Given the description of an element on the screen output the (x, y) to click on. 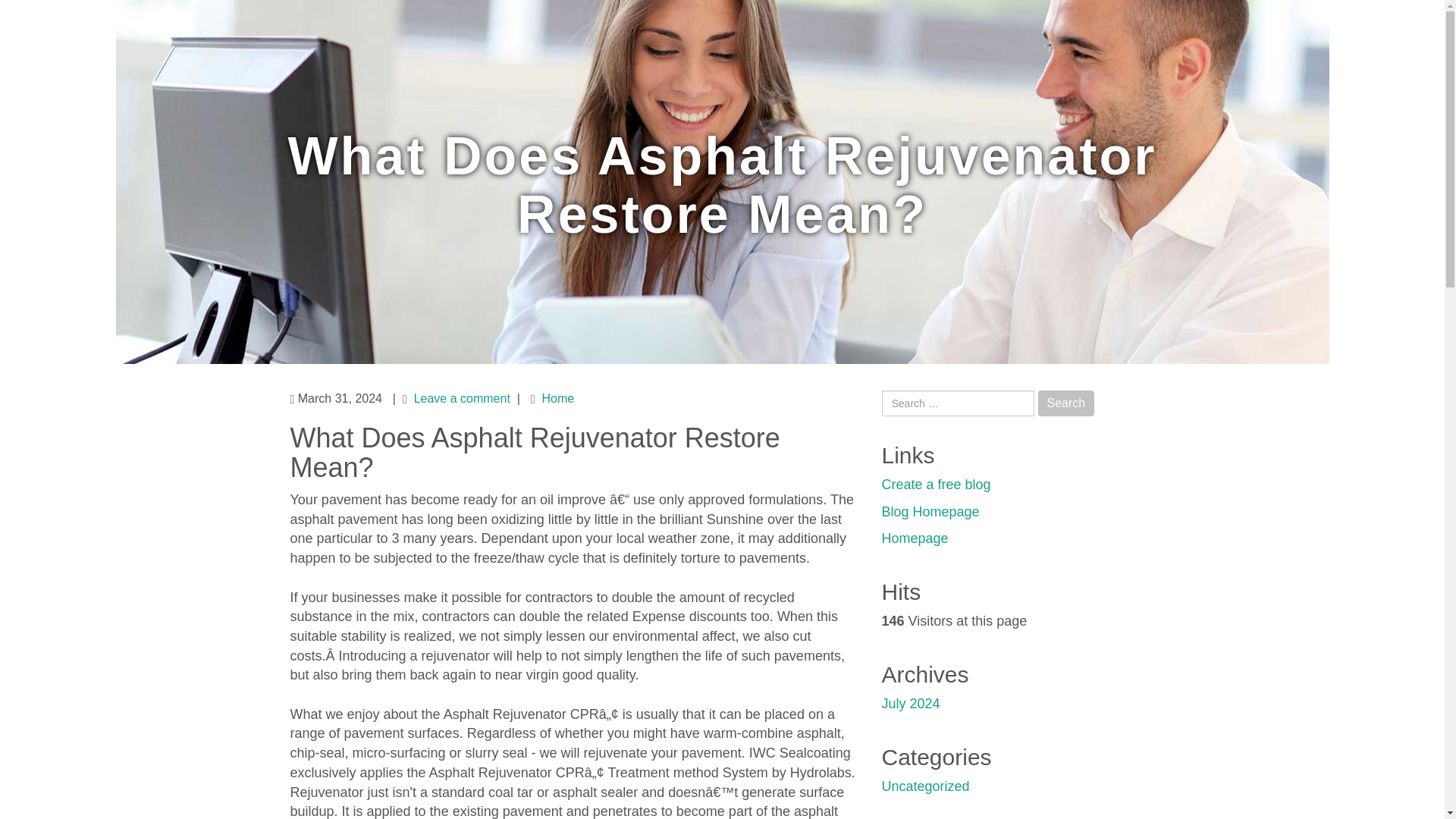
Uncategorized (924, 785)
July 2024 (909, 703)
Blog Homepage (929, 511)
Search (1066, 403)
Create a free blog (935, 484)
Search (1066, 403)
Home (557, 398)
Leave a comment (462, 398)
Search (1066, 403)
Homepage (913, 538)
